Given the description of an element on the screen output the (x, y) to click on. 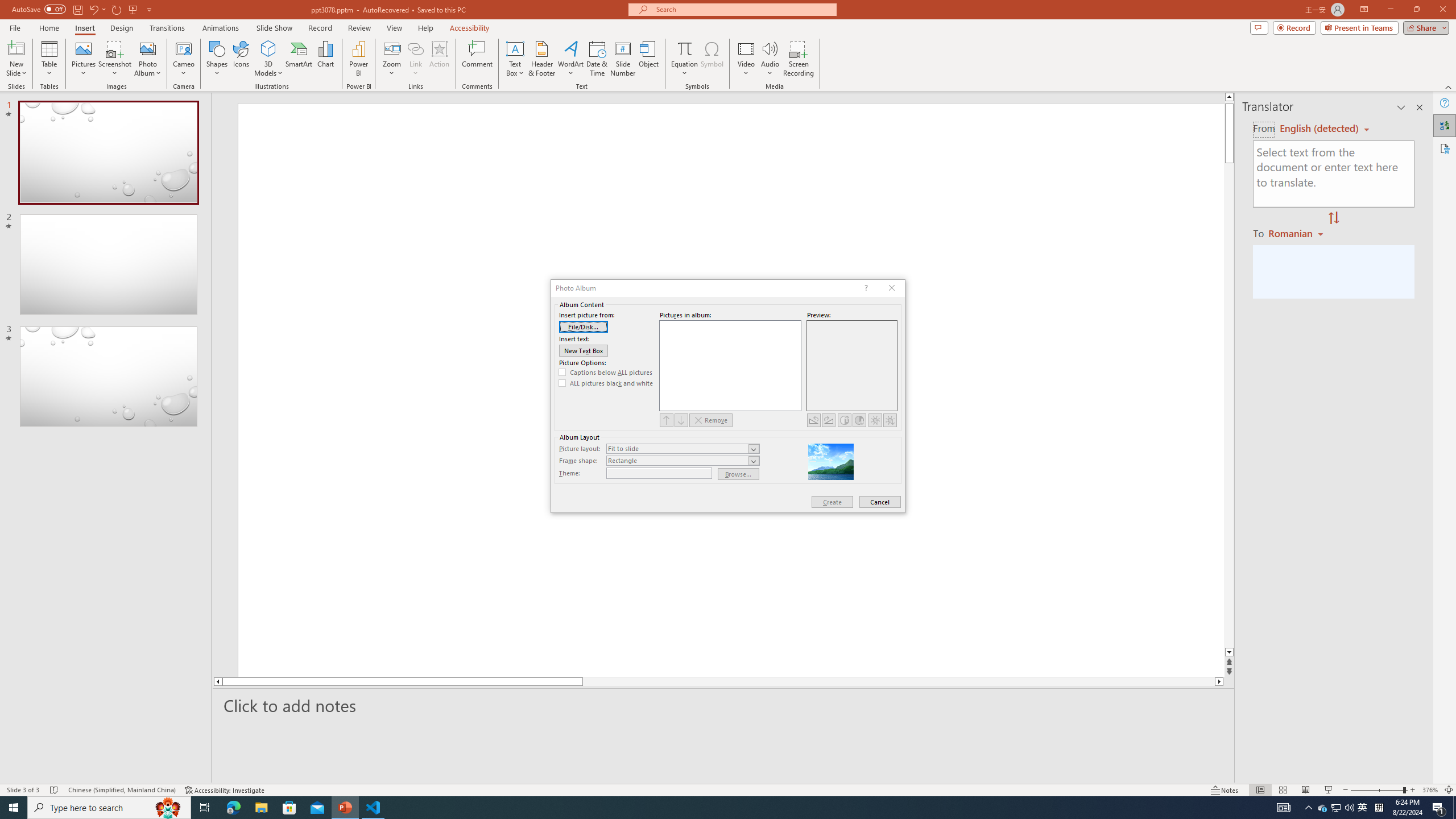
Slide Number (622, 58)
WordArt (570, 58)
Captions below ALL pictures (606, 371)
Date & Time... (596, 58)
